Given the description of an element on the screen output the (x, y) to click on. 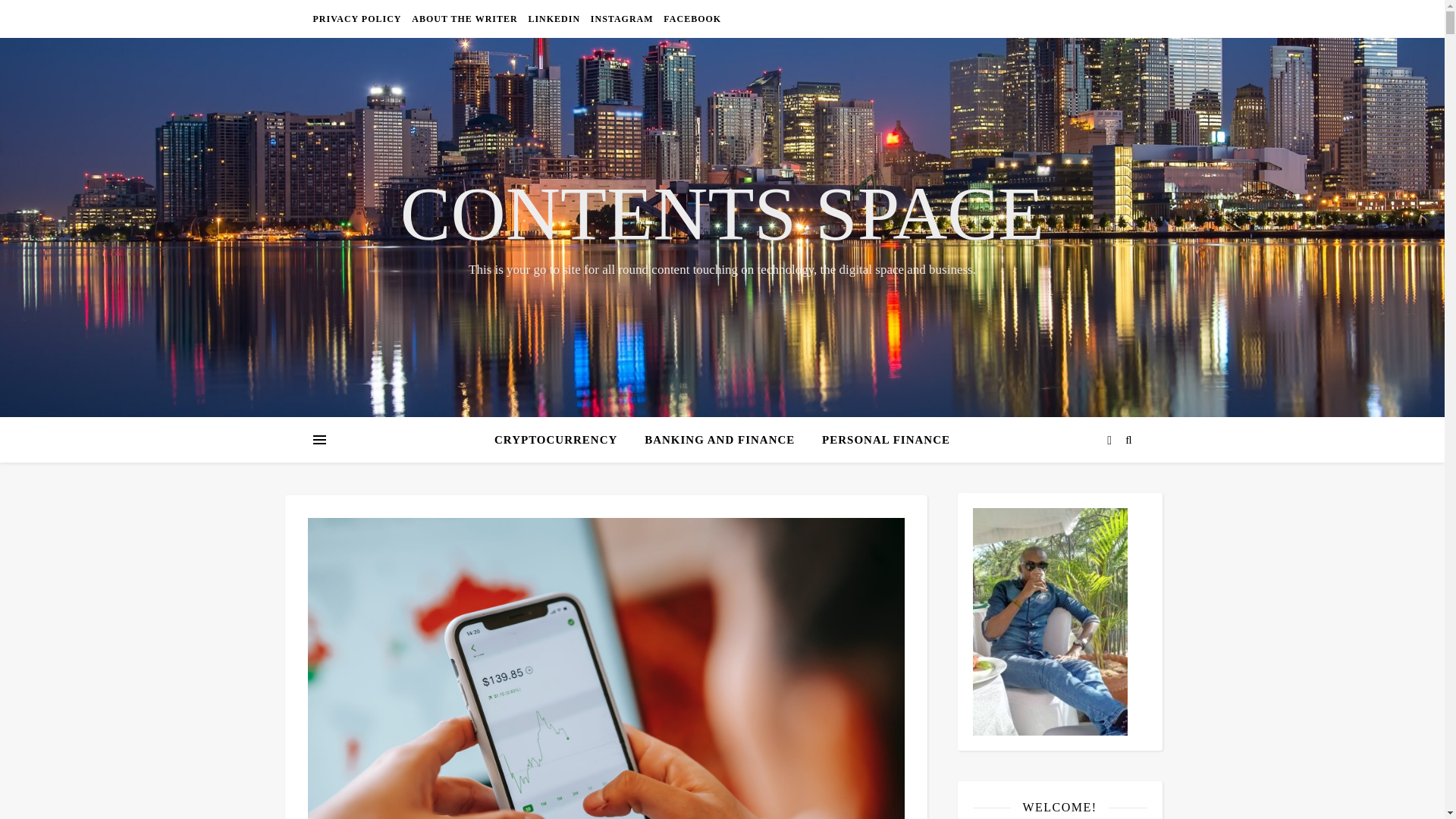
INSTAGRAM (622, 18)
BANKING AND FINANCE (718, 439)
LINKEDIN (553, 18)
PRIVACY POLICY (358, 18)
FACEBOOK (689, 18)
CRYPTOCURRENCY (561, 439)
PERSONAL FINANCE (879, 439)
ABOUT THE WRITER (464, 18)
